Given the description of an element on the screen output the (x, y) to click on. 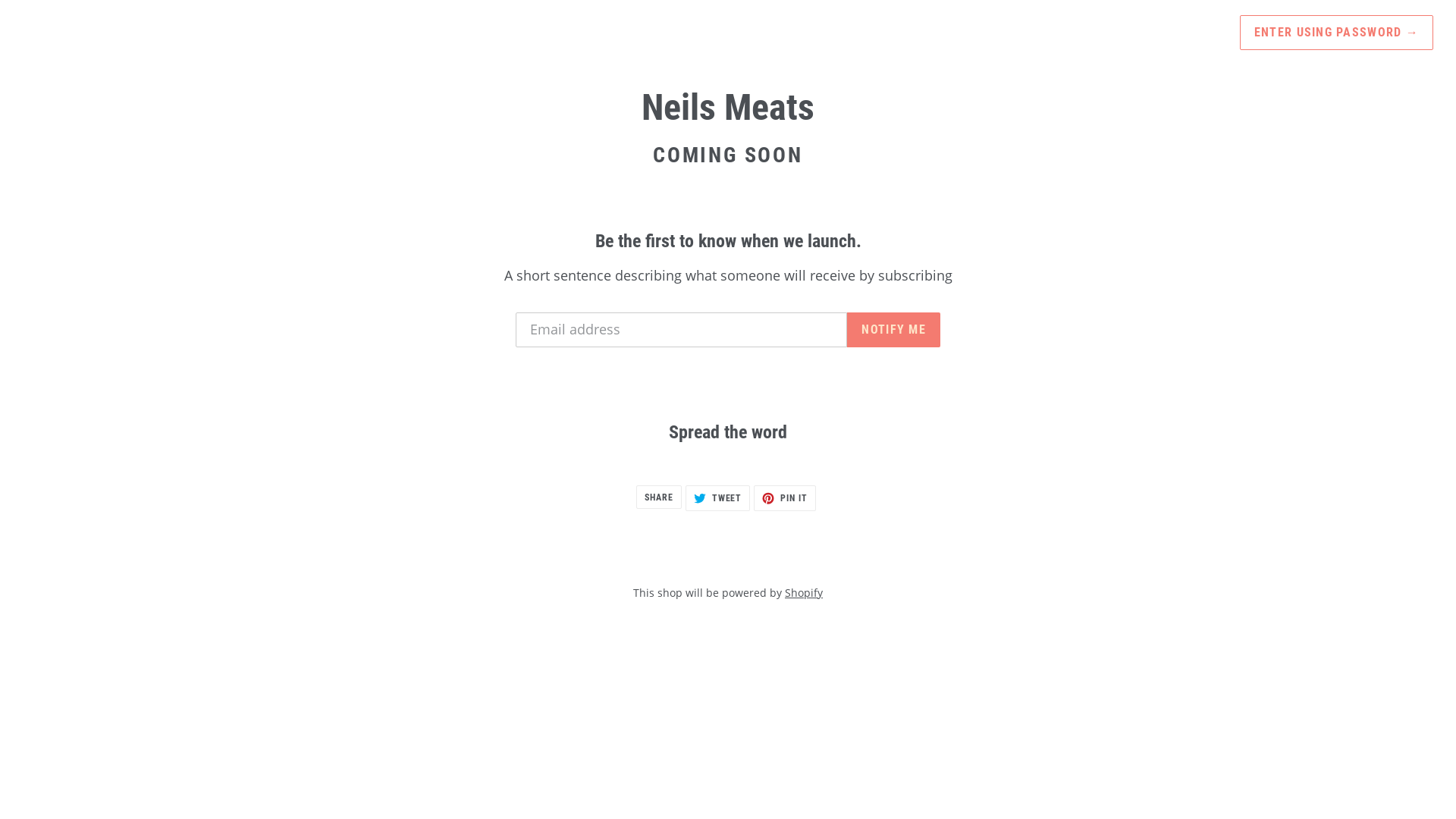
NOTIFY ME Element type: text (893, 329)
SHARE
SHARE ON FACEBOOK Element type: text (658, 496)
Shopify Element type: text (803, 592)
TWEET
TWEET ON TWITTER Element type: text (717, 498)
PIN IT
PIN ON PINTEREST Element type: text (784, 498)
